Given the description of an element on the screen output the (x, y) to click on. 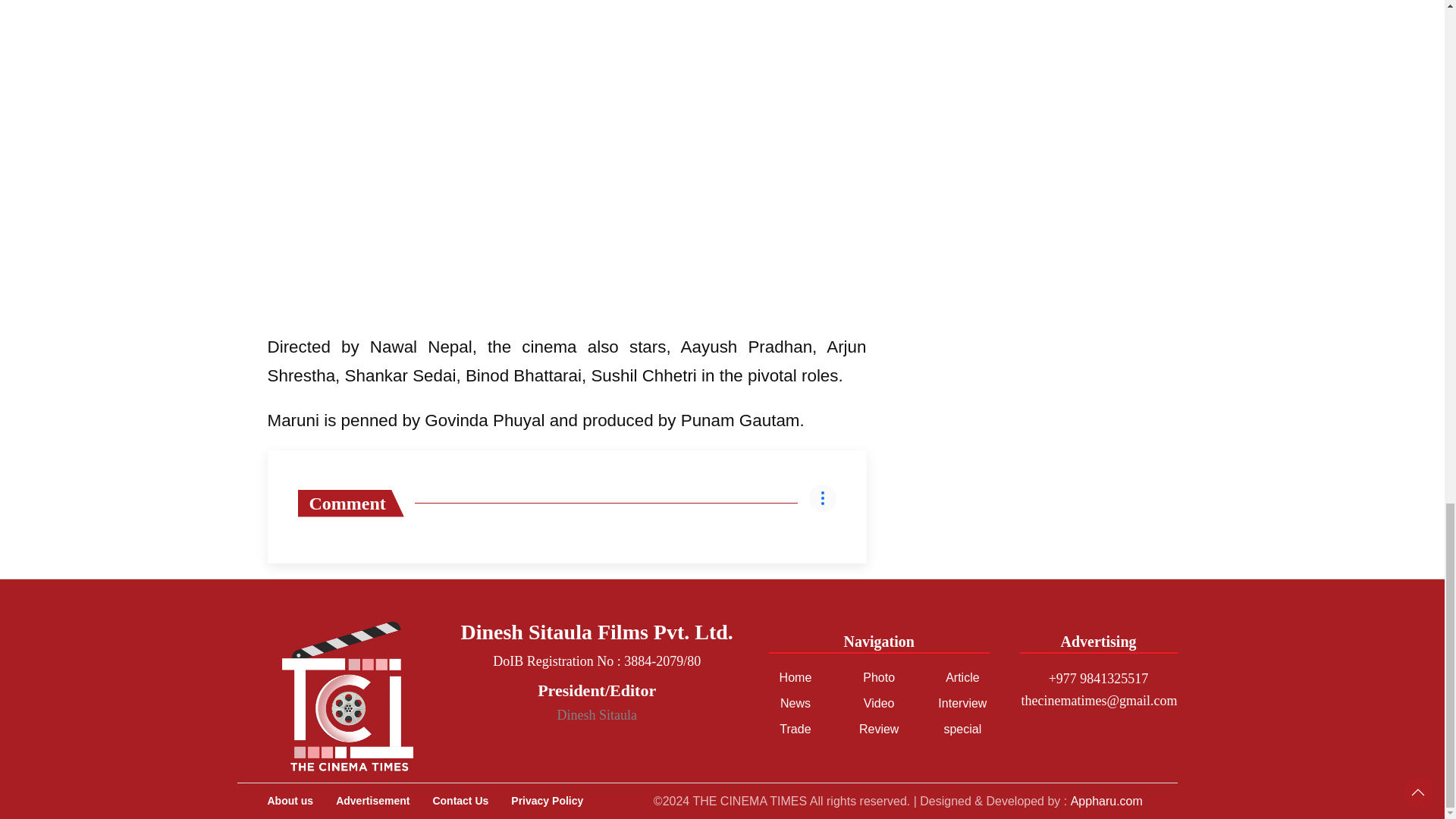
Comment (350, 502)
